Given the description of an element on the screen output the (x, y) to click on. 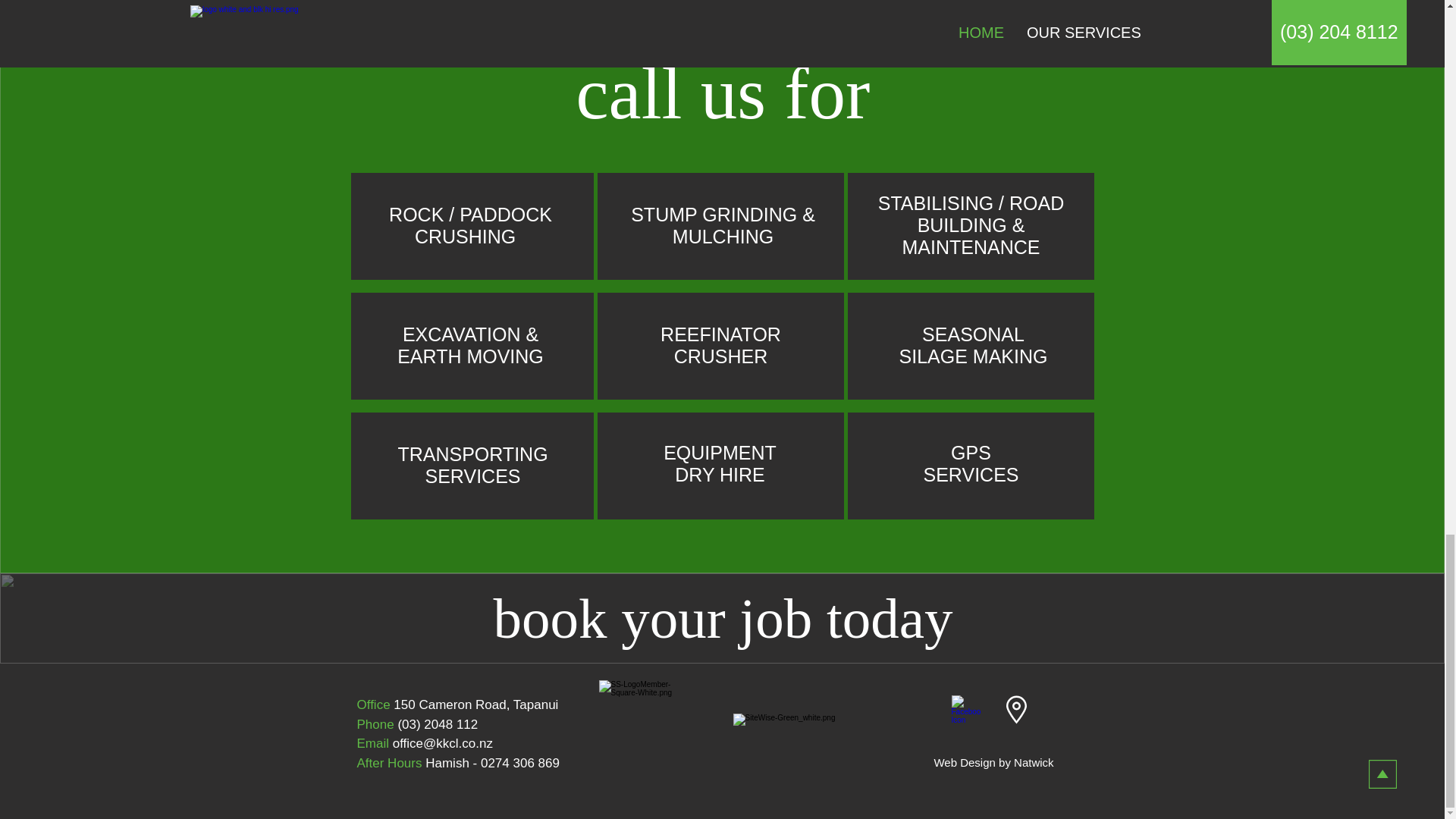
GPS (970, 452)
EARTH MOVING (470, 355)
REEFINATOR (720, 333)
TRANSPORTING (472, 454)
Office (373, 704)
0274 306 869 (519, 762)
SERVICES (472, 476)
SEASONAL (973, 333)
SERVICES (971, 474)
Natwick (1033, 762)
